Given the description of an element on the screen output the (x, y) to click on. 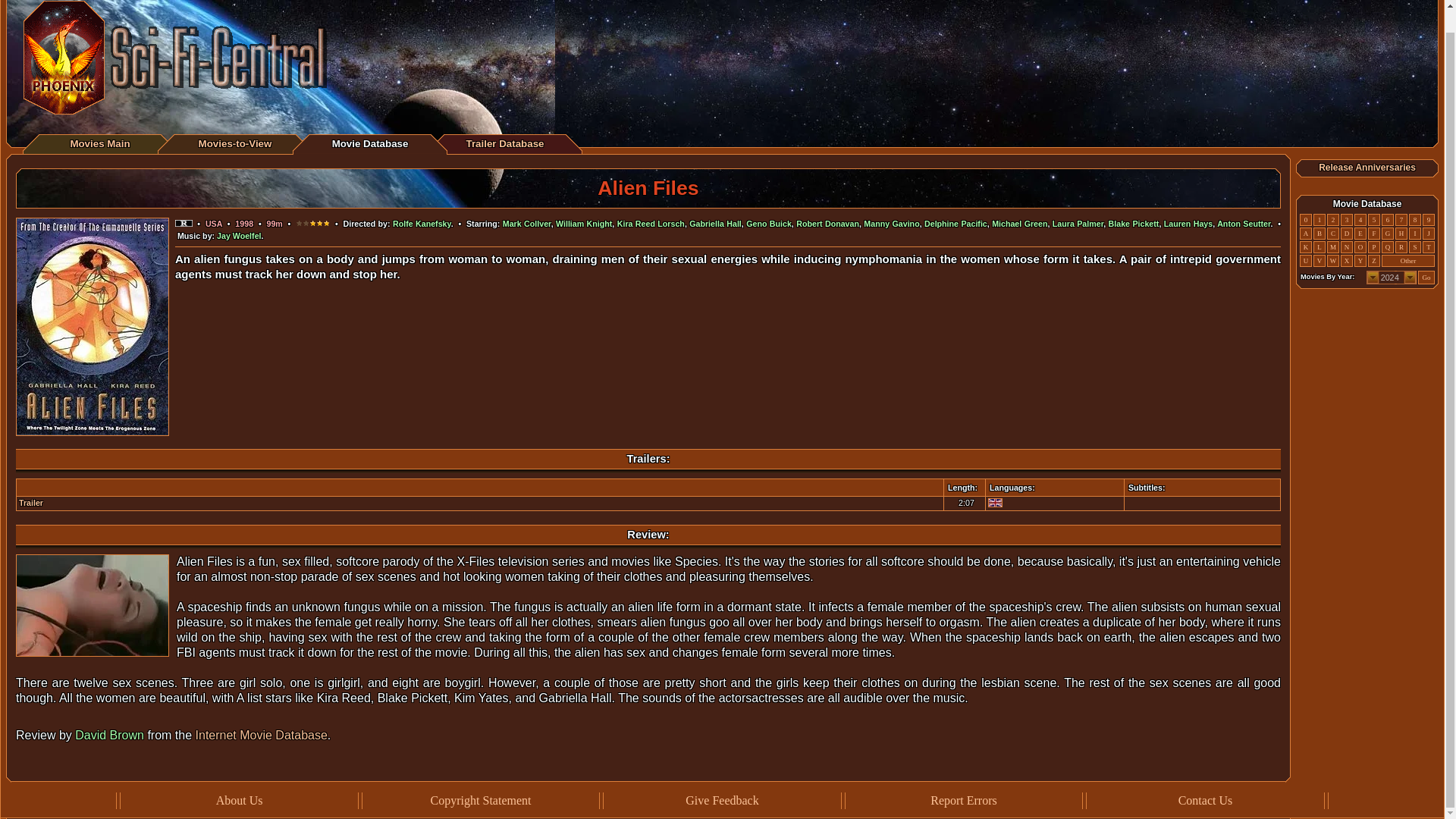
Movies Main (99, 143)
Movies-to-View (235, 143)
Trailer (30, 501)
Release Anniversaries (1367, 167)
Trailer Database (504, 143)
Internet Movie Database (261, 735)
English (995, 501)
